Given the description of an element on the screen output the (x, y) to click on. 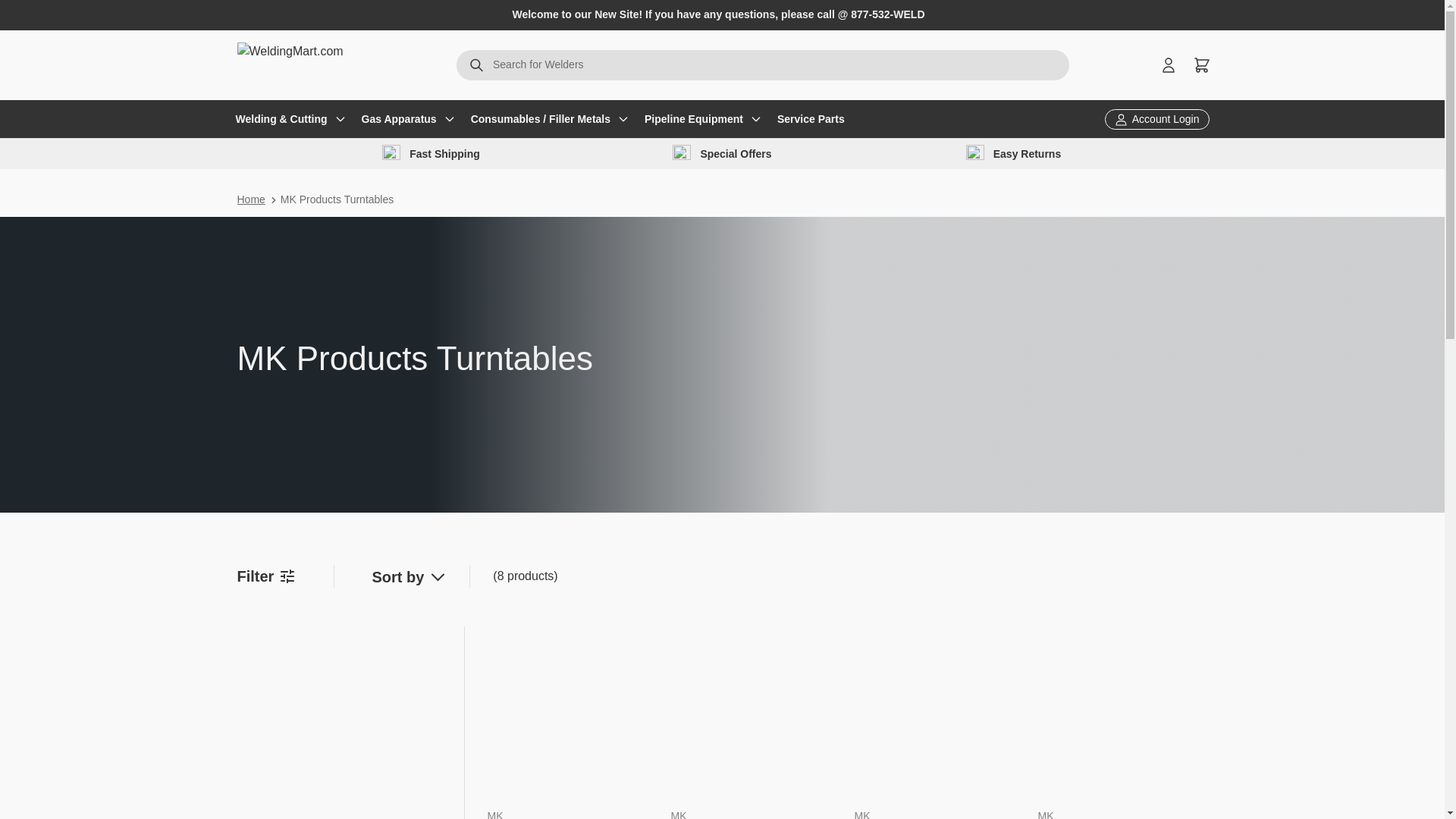
Cart (722, 153)
Search (1201, 64)
Skip to content (476, 66)
Log in (90, 21)
